Given the description of an element on the screen output the (x, y) to click on. 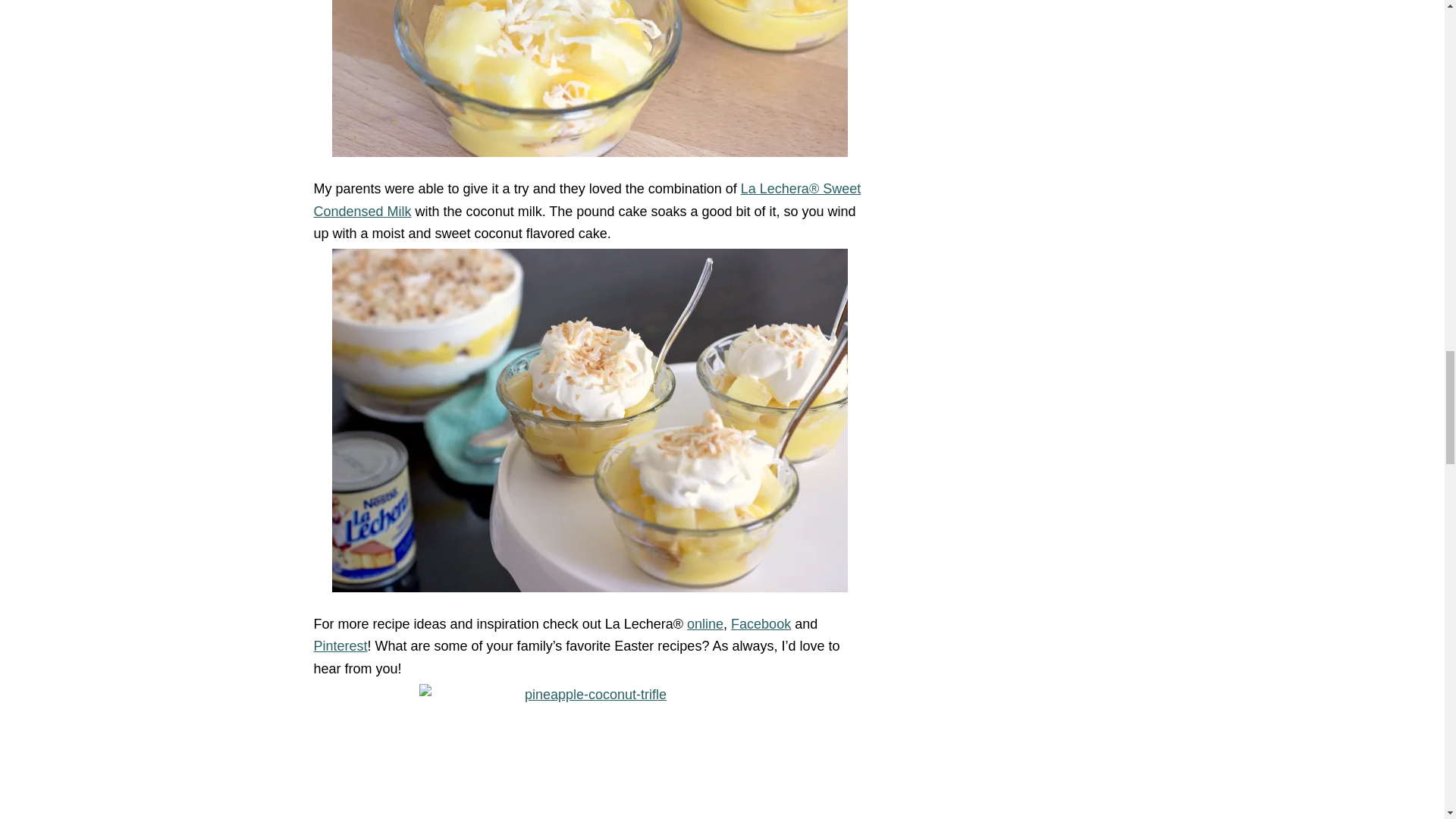
Facebook (760, 623)
Pinterest (341, 645)
online (705, 623)
